Given the description of an element on the screen output the (x, y) to click on. 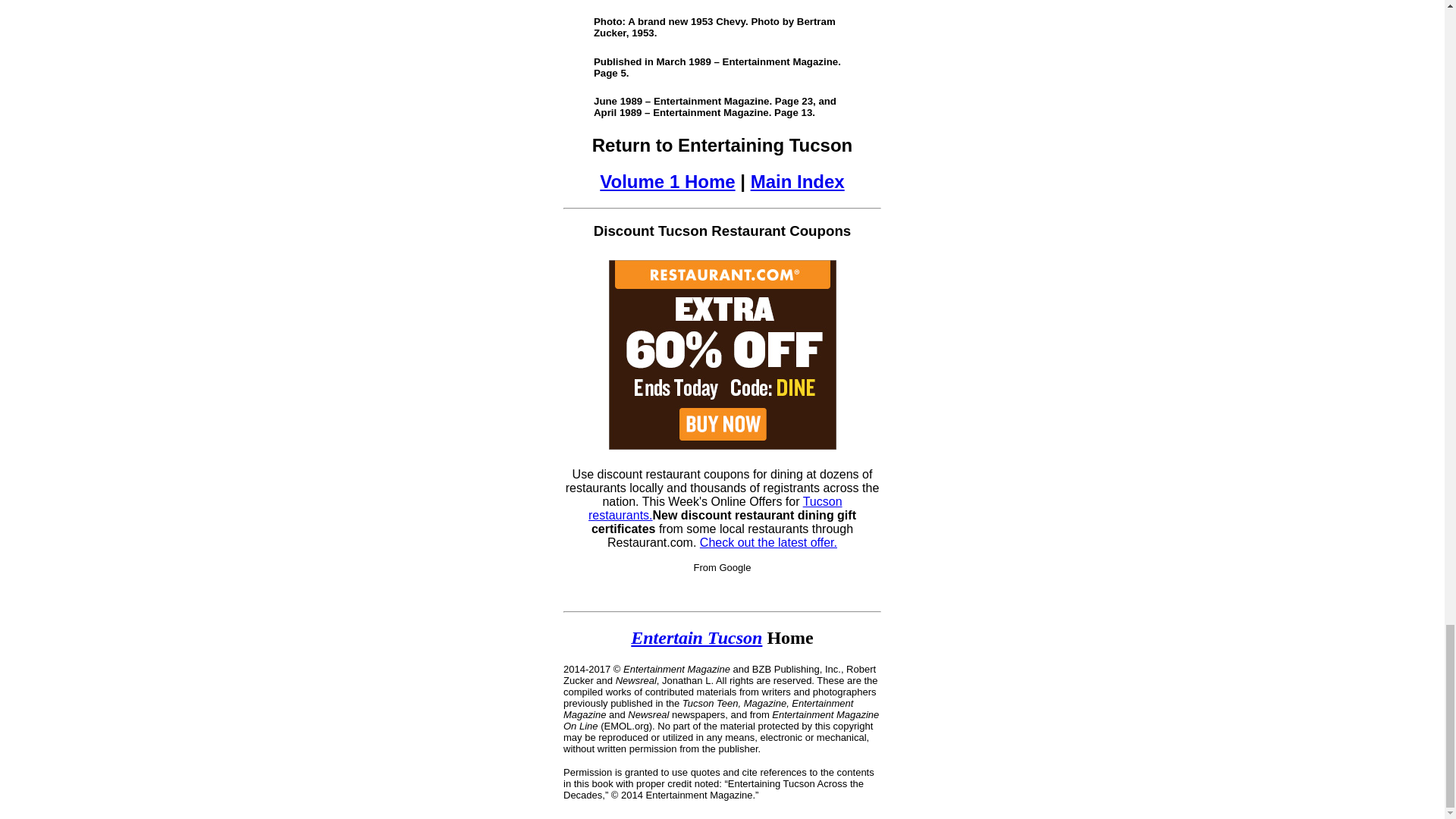
Check out the latest offer. (768, 542)
Main Index (797, 181)
Volume 1 Home (667, 181)
Tucson restaurants. (715, 508)
Entertain Tucson (695, 637)
